Given the description of an element on the screen output the (x, y) to click on. 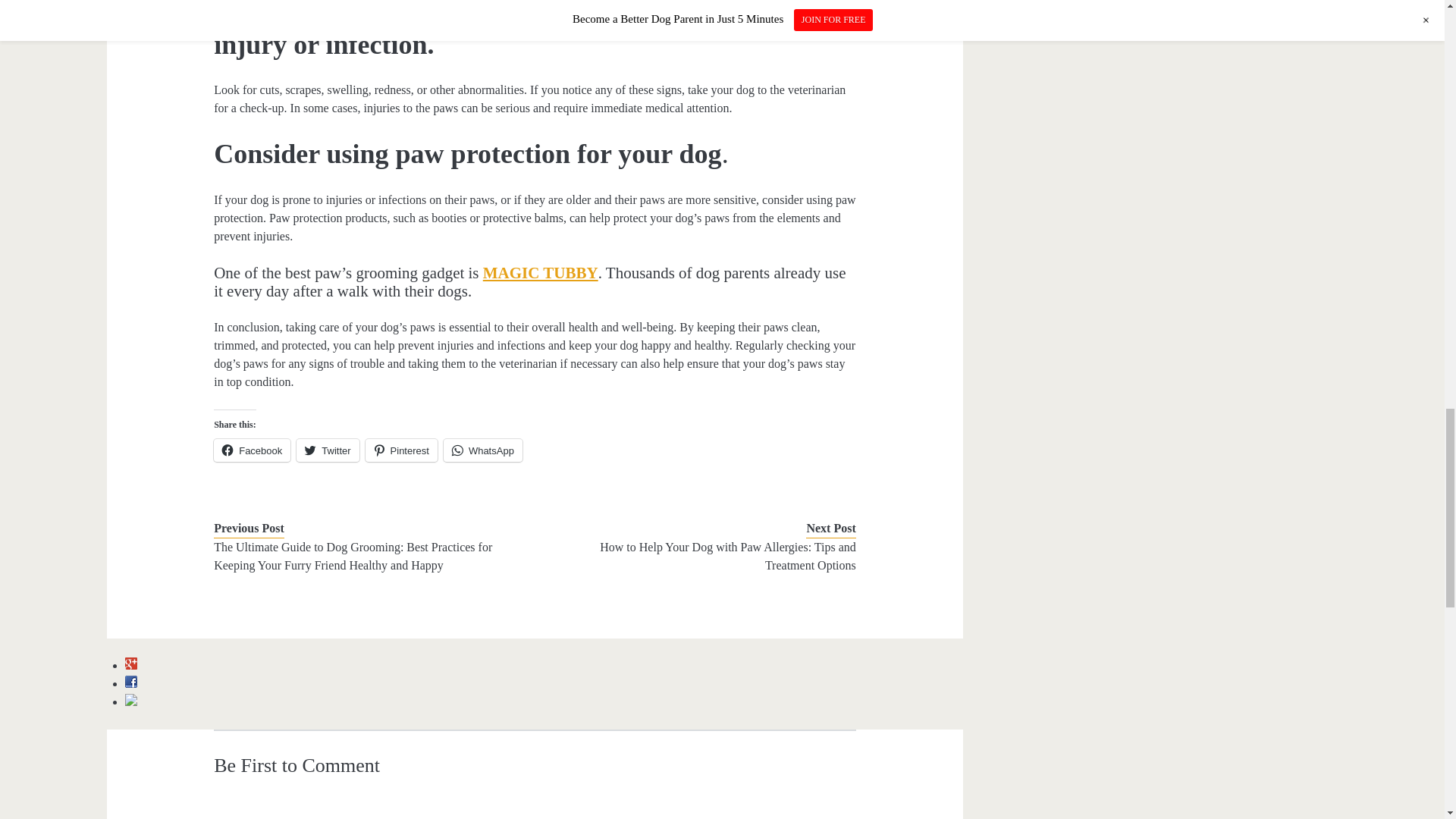
MAGIC TUBBY (540, 272)
Click to share on WhatsApp (483, 449)
Facebook (251, 449)
Twitter (327, 449)
Click to share on Facebook (251, 449)
Pinterest (401, 449)
WhatsApp (483, 449)
Click to share on Pinterest (401, 449)
